Given the description of an element on the screen output the (x, y) to click on. 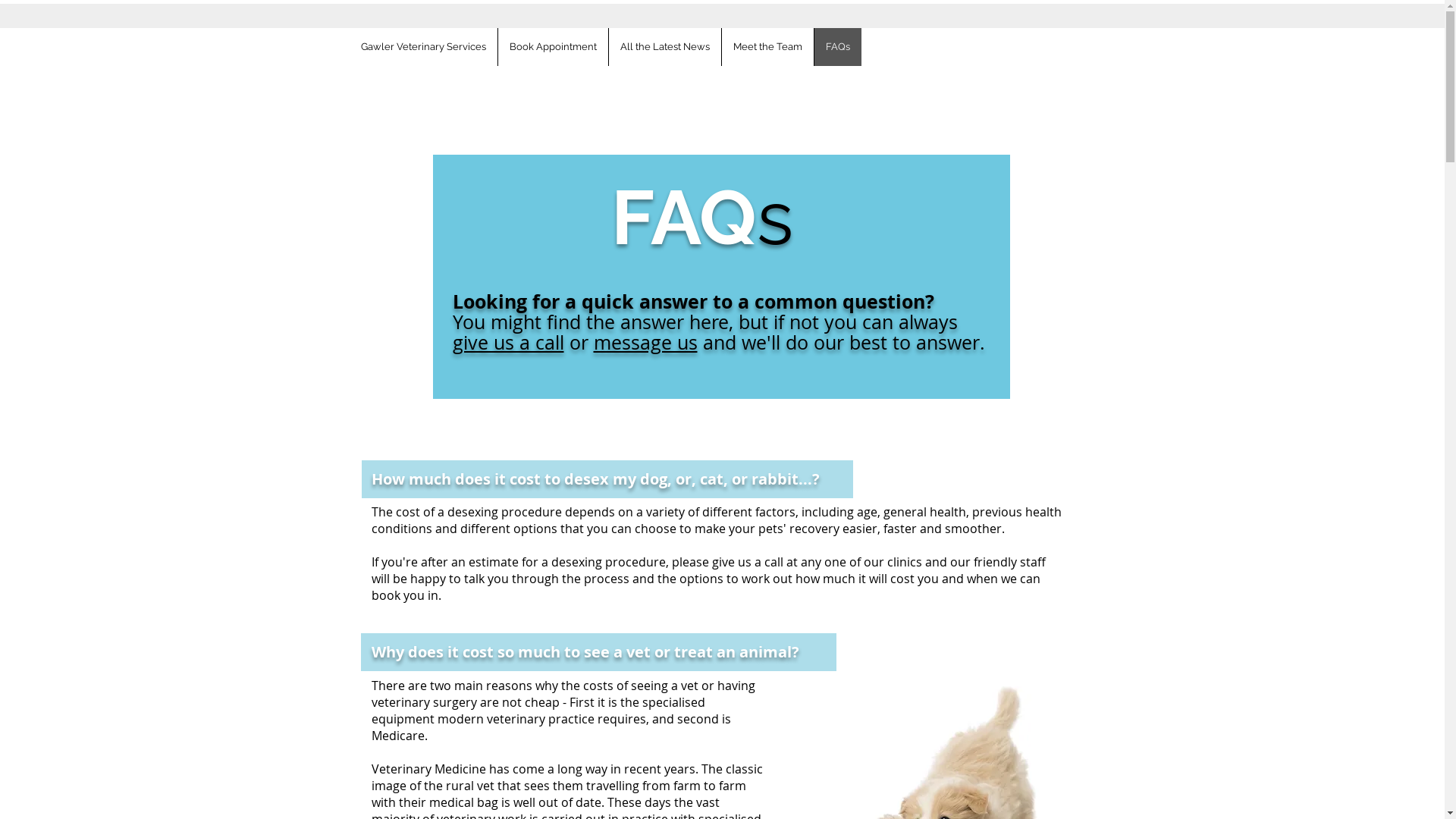
Book Appointment Element type: text (552, 46)
FAQs Element type: text (836, 46)
Meet the Team Element type: text (766, 46)
give us a call Element type: text (507, 341)
All the Latest News Element type: text (664, 46)
Gawler Veterinary Services Element type: text (422, 46)
message us Element type: text (644, 341)
